Given the description of an element on the screen output the (x, y) to click on. 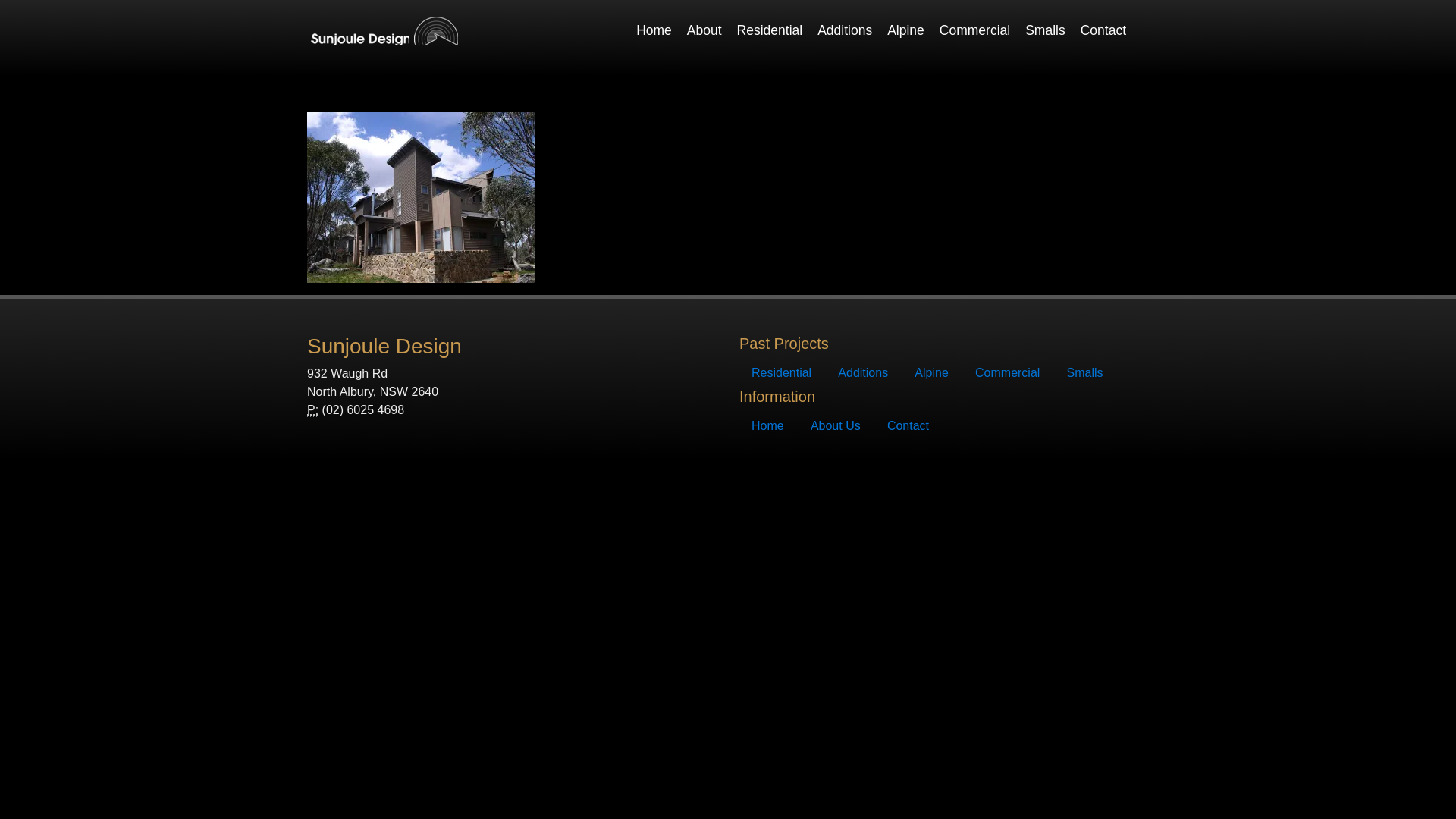
Commercial Element type: text (1007, 372)
About Element type: text (704, 30)
Residential Element type: text (781, 372)
Commercial Element type: text (974, 30)
Alpine Element type: text (905, 30)
Smalls Element type: text (1045, 30)
Home Element type: text (767, 426)
Home Element type: text (653, 30)
Residential Element type: text (769, 30)
Contact Element type: text (908, 426)
Additions Element type: text (844, 30)
Contact Element type: text (1103, 30)
About Us Element type: text (835, 426)
Smalls Element type: text (1084, 372)
Alpine Element type: text (931, 372)
Additions Element type: text (862, 372)
